Given the description of an element on the screen output the (x, y) to click on. 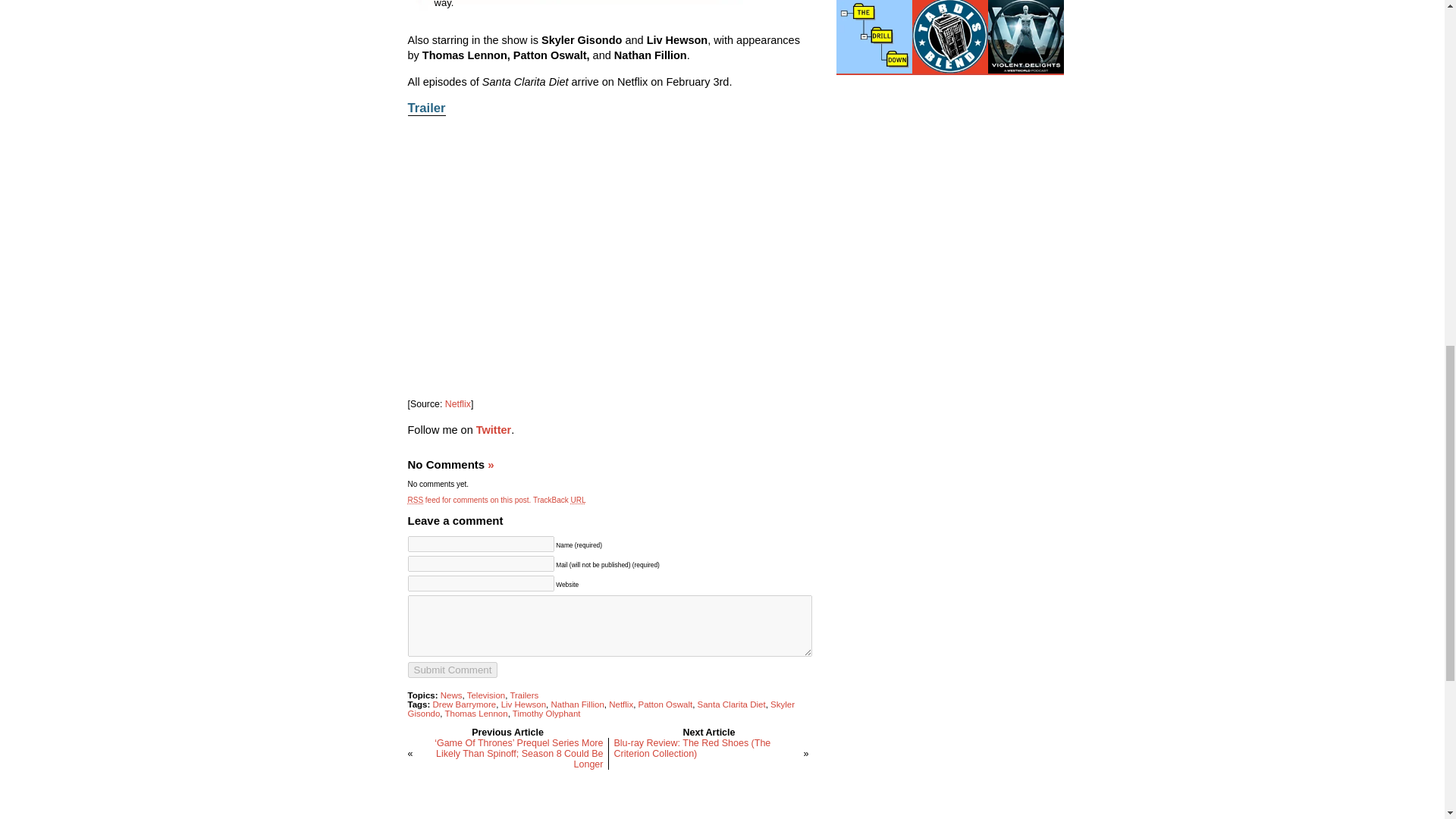
Submit Comment (452, 669)
Twitter (493, 429)
Timothy Olyphant (546, 713)
Really Simple Syndication (415, 500)
Santa Clarita Diet (731, 704)
Netflix (457, 403)
Netflix (620, 704)
Skyler Gisondo (600, 709)
Drew Barrymore (464, 704)
Universal Resource Locator (578, 500)
